Given the description of an element on the screen output the (x, y) to click on. 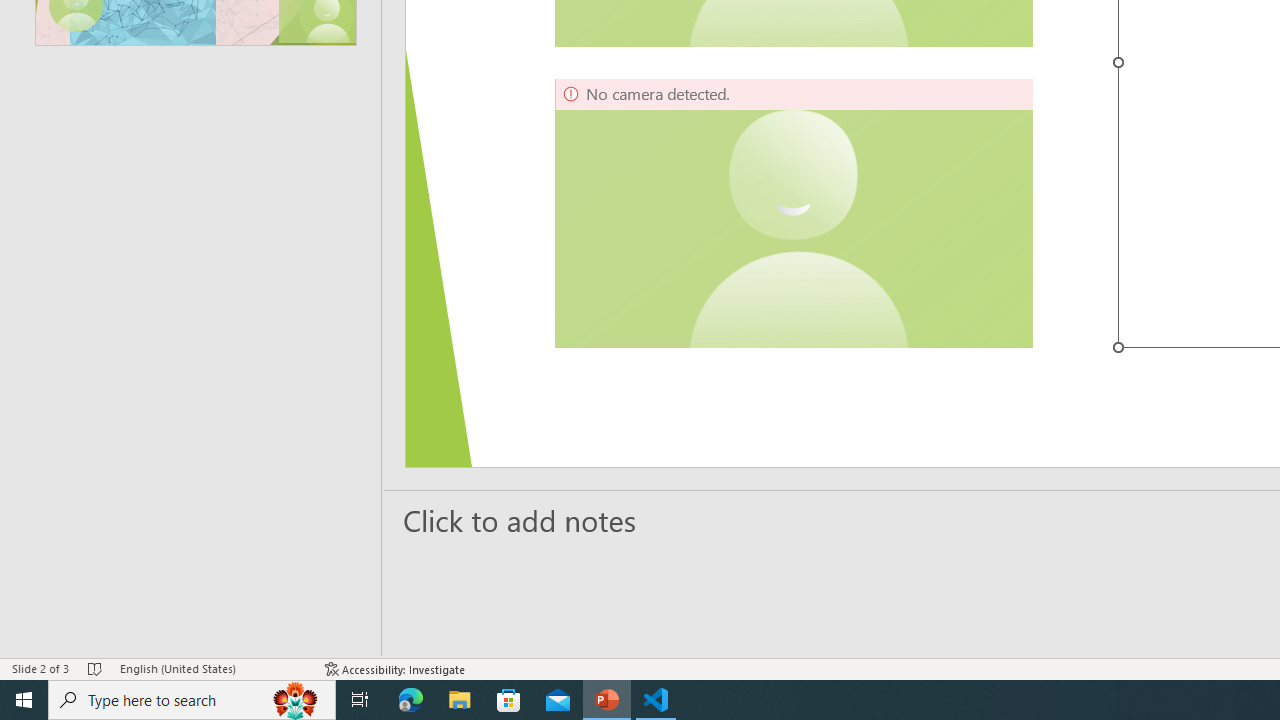
Camera 5, No camera detected. (794, 213)
